Given the description of an element on the screen output the (x, y) to click on. 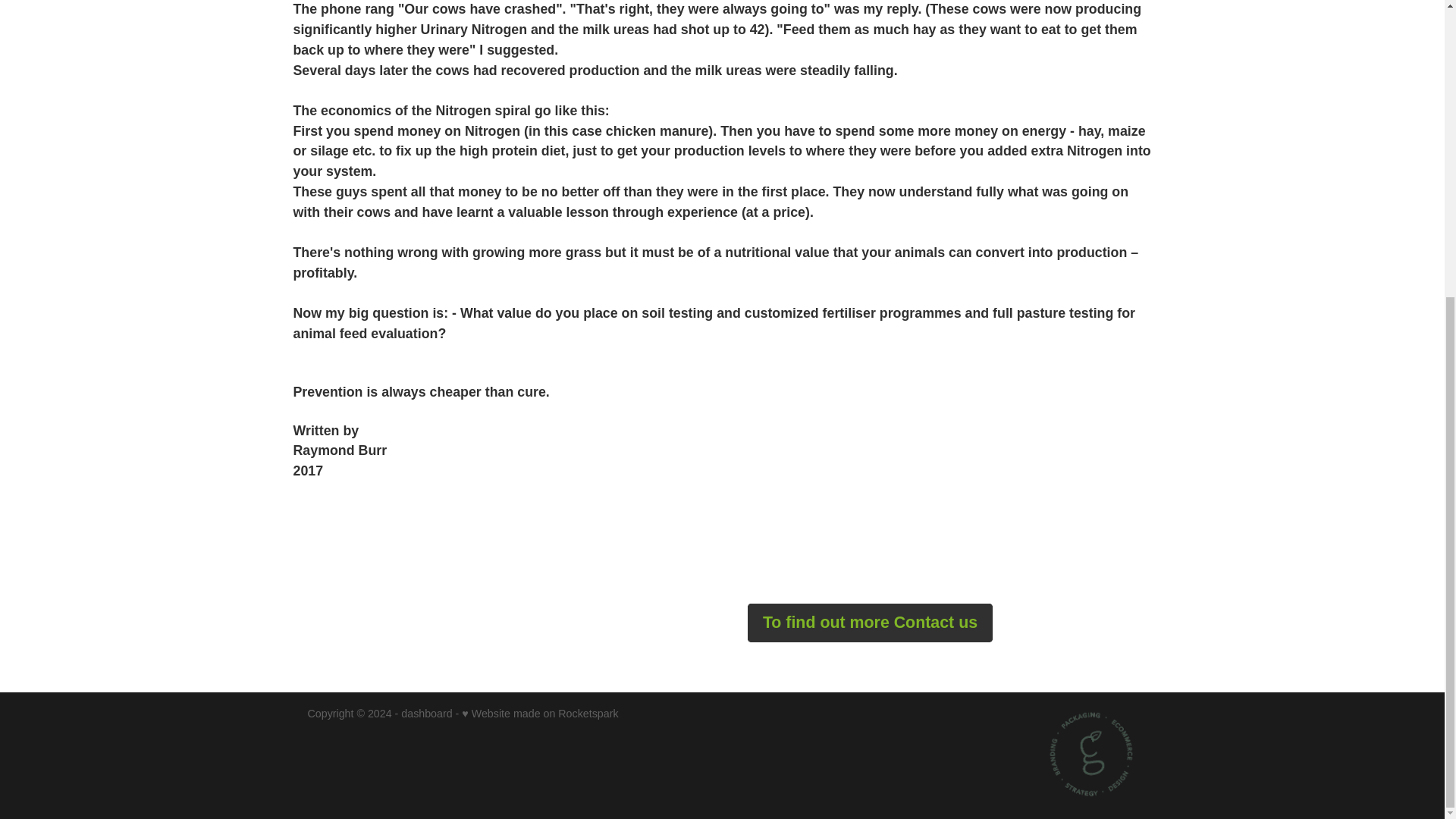
To find out more Contact us (870, 622)
dashboard (426, 713)
